Given the description of an element on the screen output the (x, y) to click on. 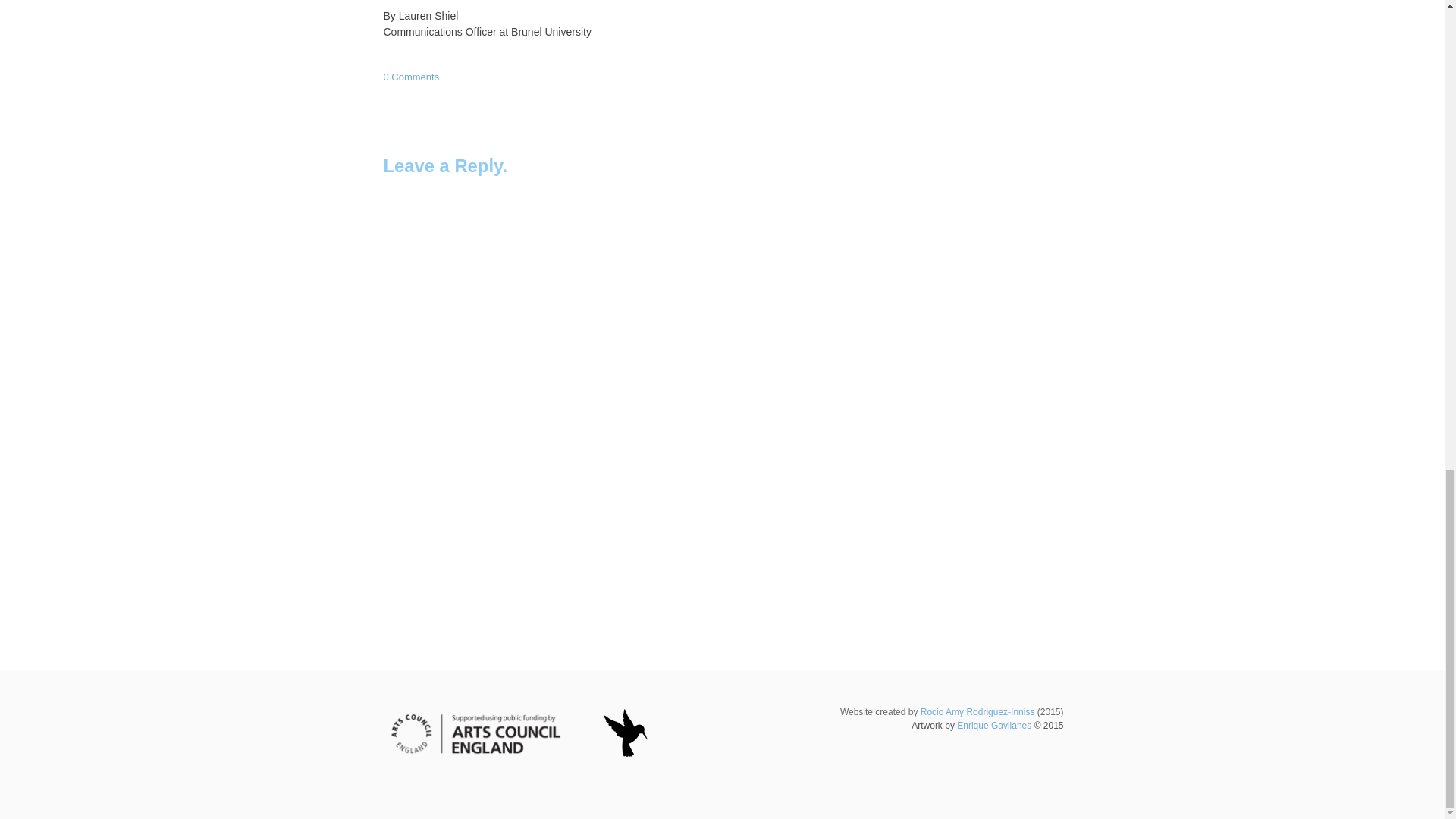
0 Comments (411, 76)
Rocio Amy Rodriguez-Inniss (977, 711)
